Given the description of an element on the screen output the (x, y) to click on. 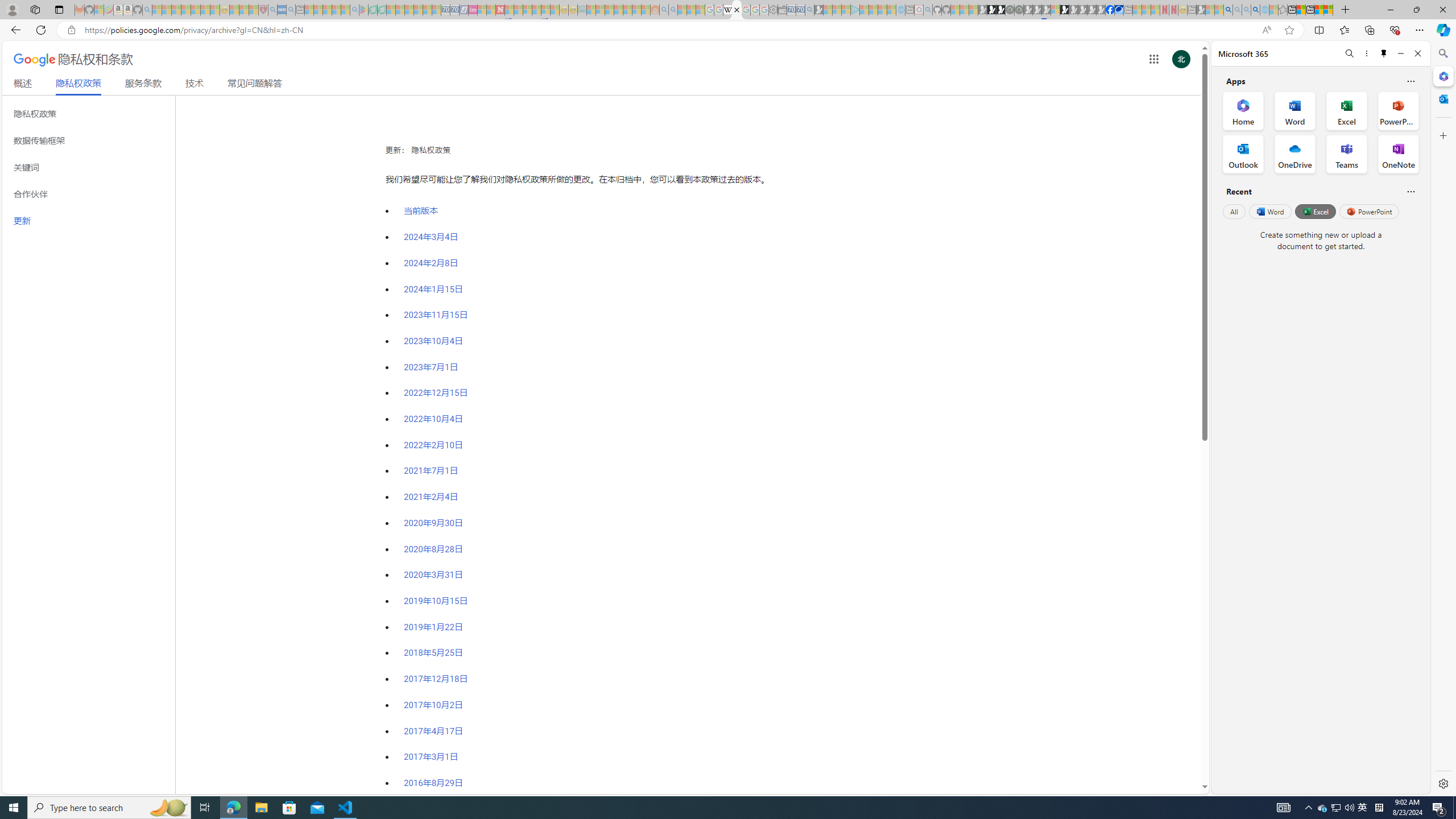
MSNBC - MSN - Sleeping (590, 9)
